Given the description of an element on the screen output the (x, y) to click on. 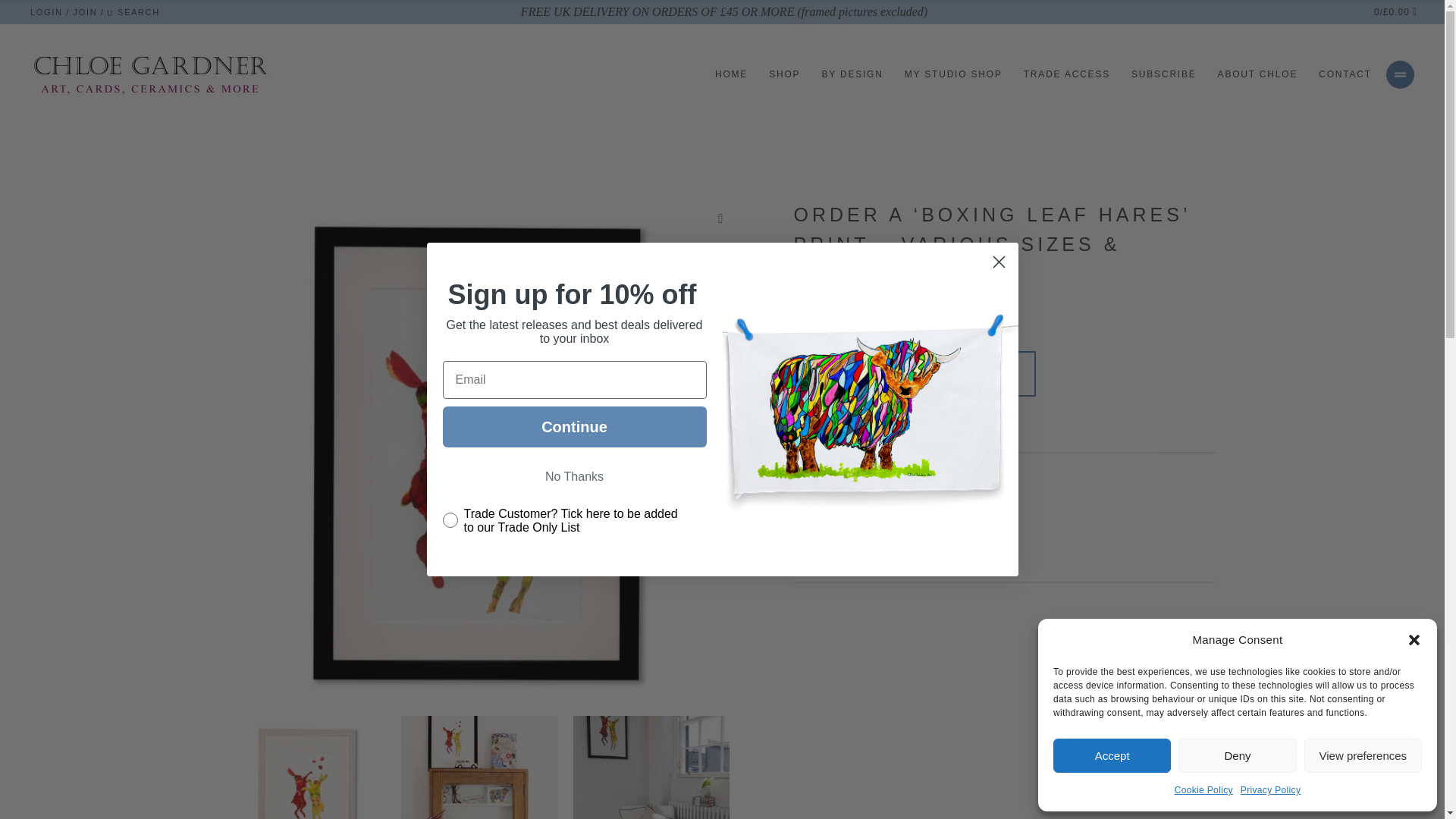
Close dialog 2 (998, 261)
SEARCH (133, 11)
Cookie Policy (1203, 790)
1 (810, 373)
View preferences (1363, 755)
Deny (1236, 755)
Privacy Policy (1270, 790)
Accept (1111, 755)
print leaf hares natural frame product image (306, 767)
